Given the description of an element on the screen output the (x, y) to click on. 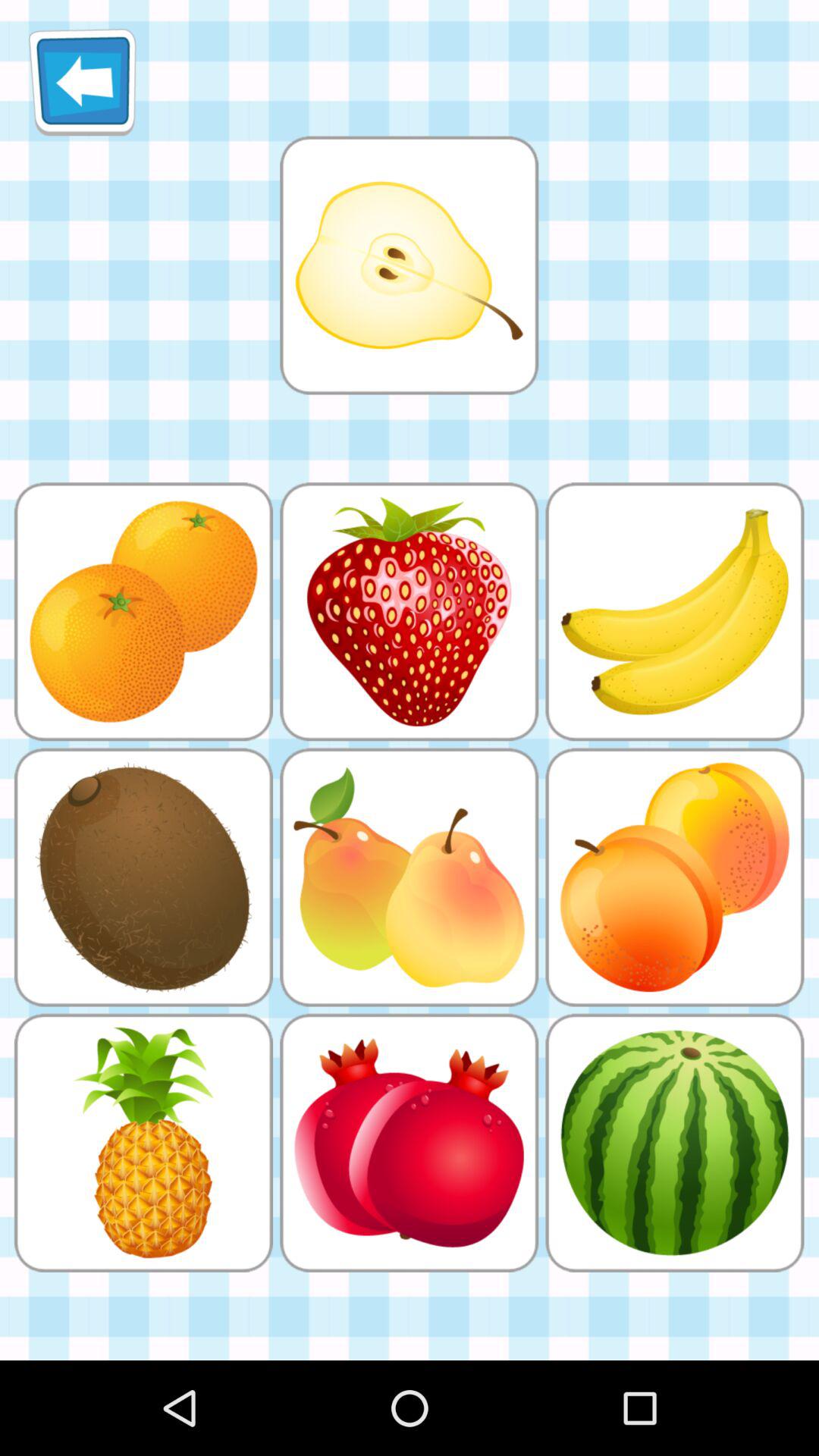
top middle pear (409, 265)
